Given the description of an element on the screen output the (x, y) to click on. 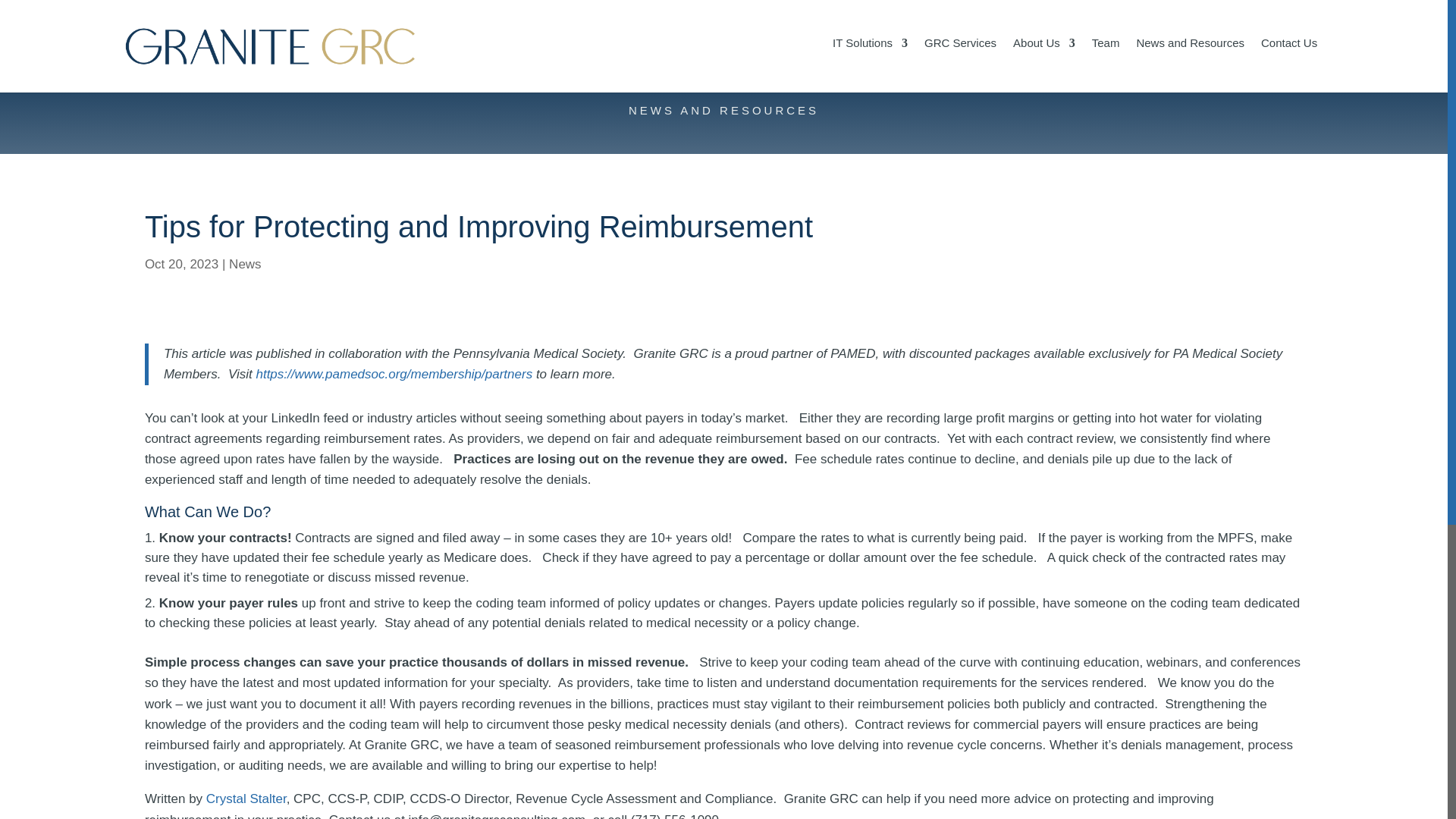
News and Resources (1189, 61)
Team (1105, 61)
IT Solutions (869, 61)
GRC Services (959, 61)
News (245, 264)
Crystal Stalter (246, 798)
Contact Us (1288, 61)
About Us (1044, 61)
